Given the description of an element on the screen output the (x, y) to click on. 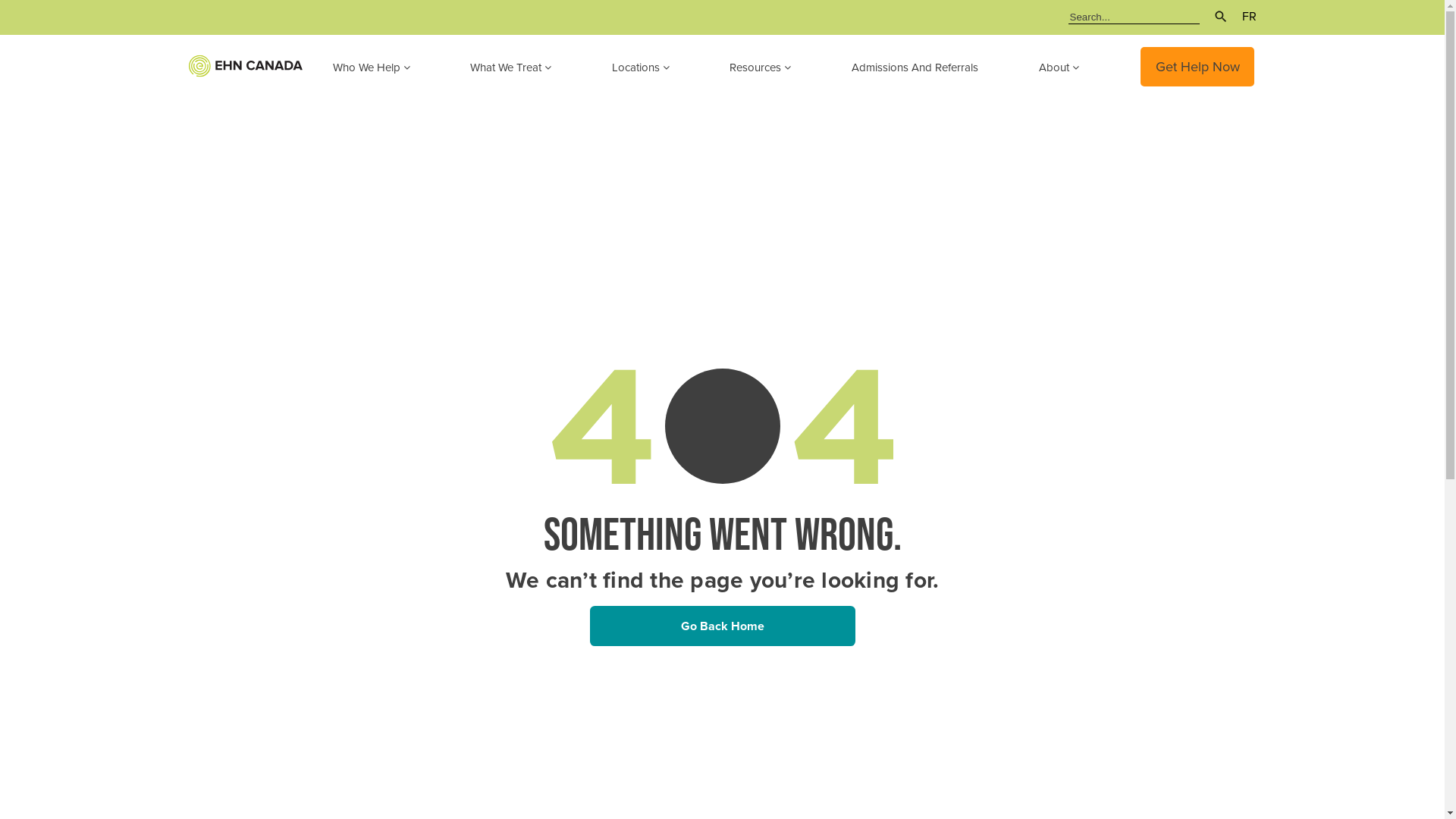
Who We Help Element type: text (385, 66)
Go Back Home Element type: text (722, 625)
Resources Element type: text (775, 66)
What We Treat Element type: text (525, 66)
Get Help Now Element type: text (1197, 66)
FR Element type: text (1241, 17)
Locations Element type: text (655, 66)
About Element type: text (1073, 66)
Admissions And Referrals Element type: text (929, 66)
